Given the description of an element on the screen output the (x, y) to click on. 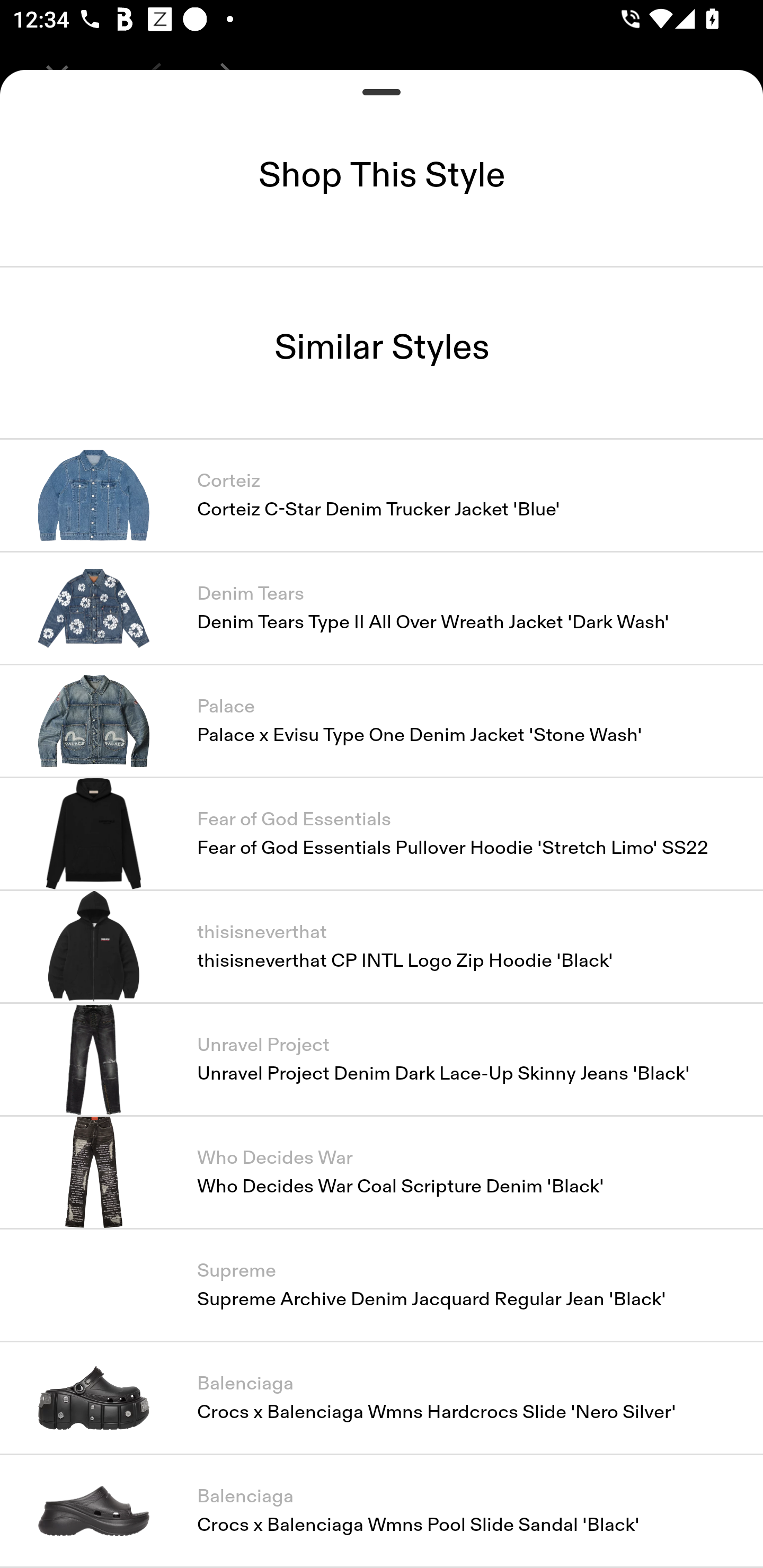
Corteiz Corteiz C-Star Denim Trucker Jacket 'Blue' (381, 494)
